Given the description of an element on the screen output the (x, y) to click on. 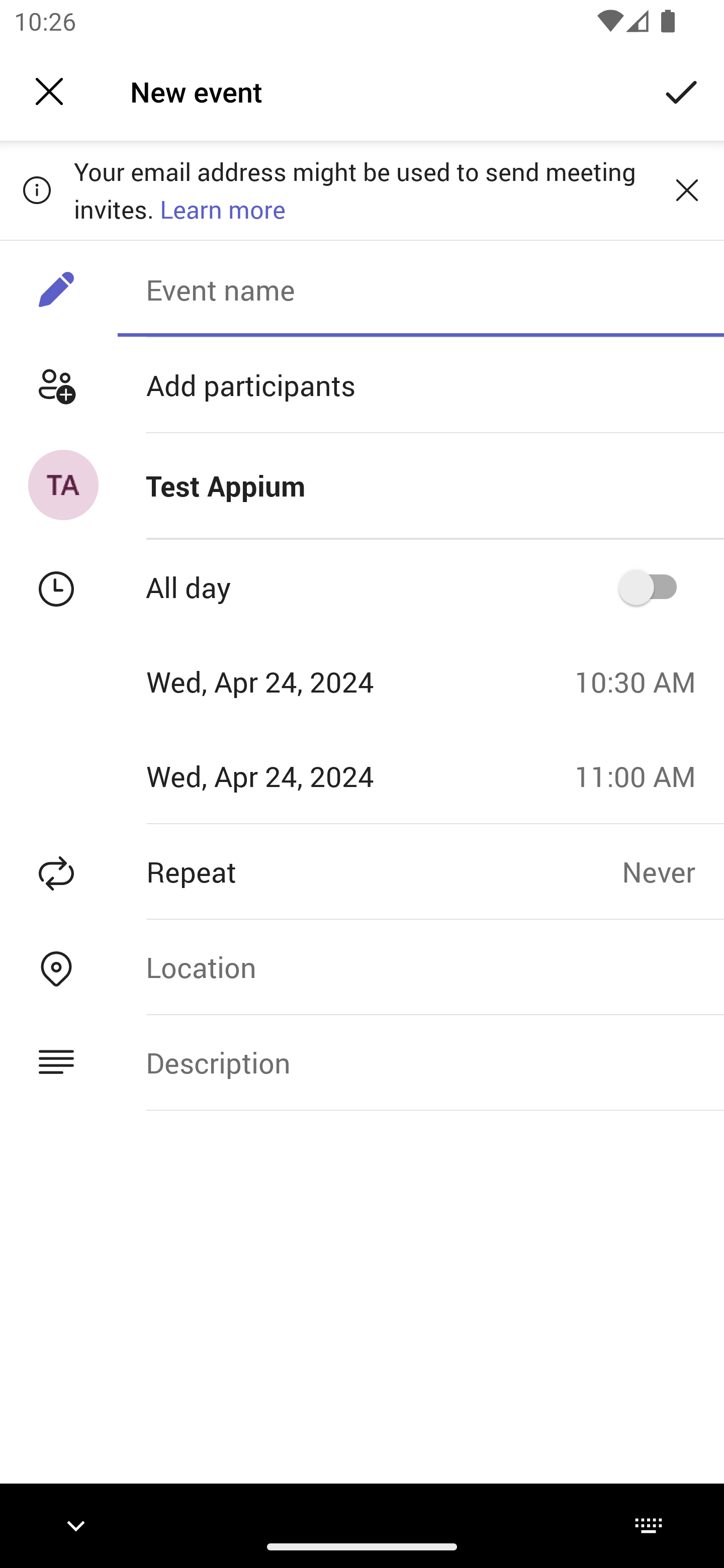
Back (49, 91)
Send invite (681, 90)
Dismiss banner (687, 189)
Event name (420, 289)
Add participants Add participants option (362, 384)
All day (654, 586)
Wed, Apr 24, 2024 Starts Wednesday Apr 24, 2024 (280, 681)
10:30 AM Start time 10:30 AM (642, 681)
Wed, Apr 24, 2024 Ends Wednesday Apr 24, 2024 (280, 776)
11:00 AM End time 11:00 AM (642, 776)
Repeat (310, 871)
Never Repeat Never (672, 871)
Location (420, 967)
Description (420, 1062)
